Given the description of an element on the screen output the (x, y) to click on. 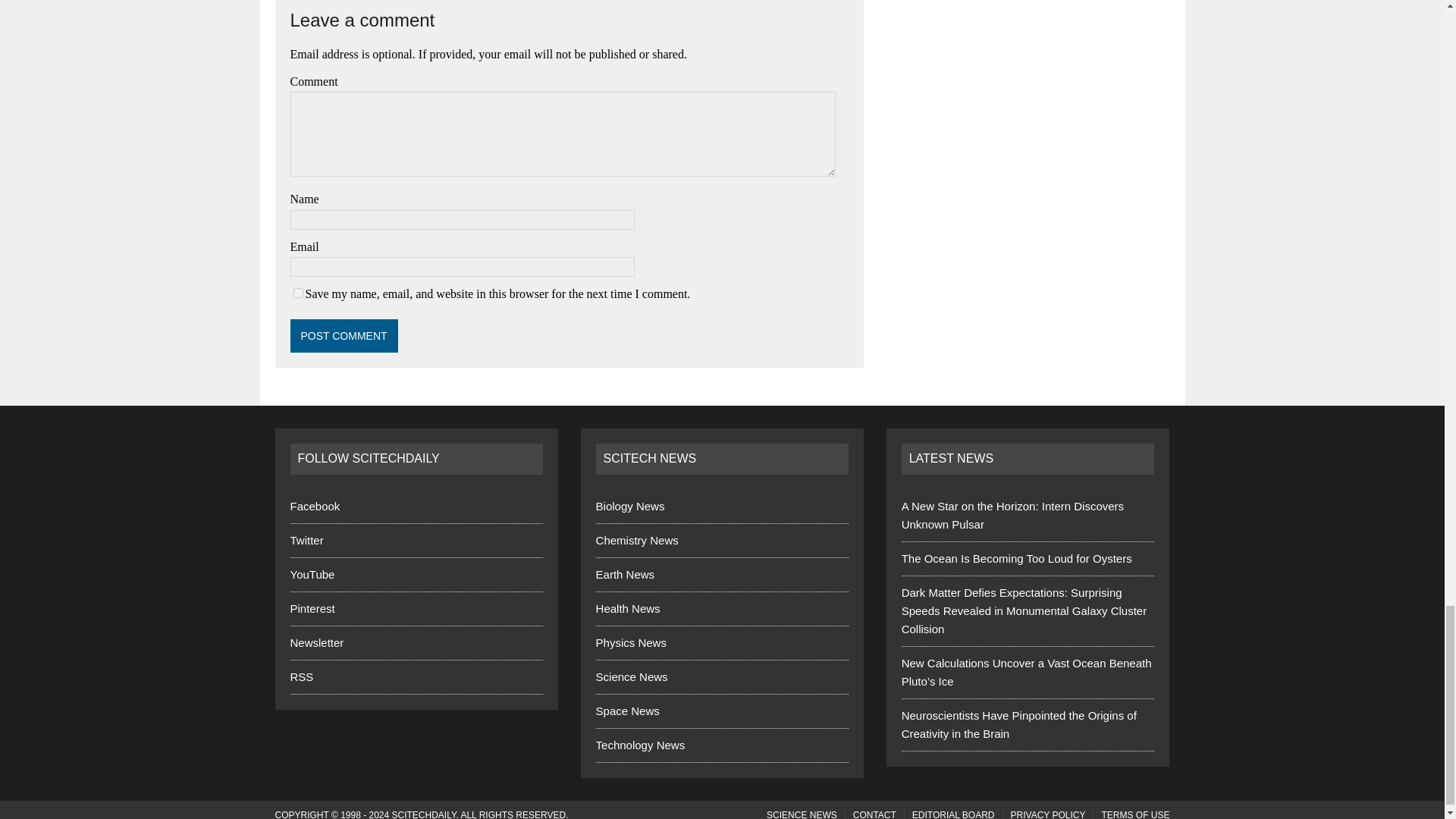
Post Comment (343, 335)
yes (297, 293)
